Given the description of an element on the screen output the (x, y) to click on. 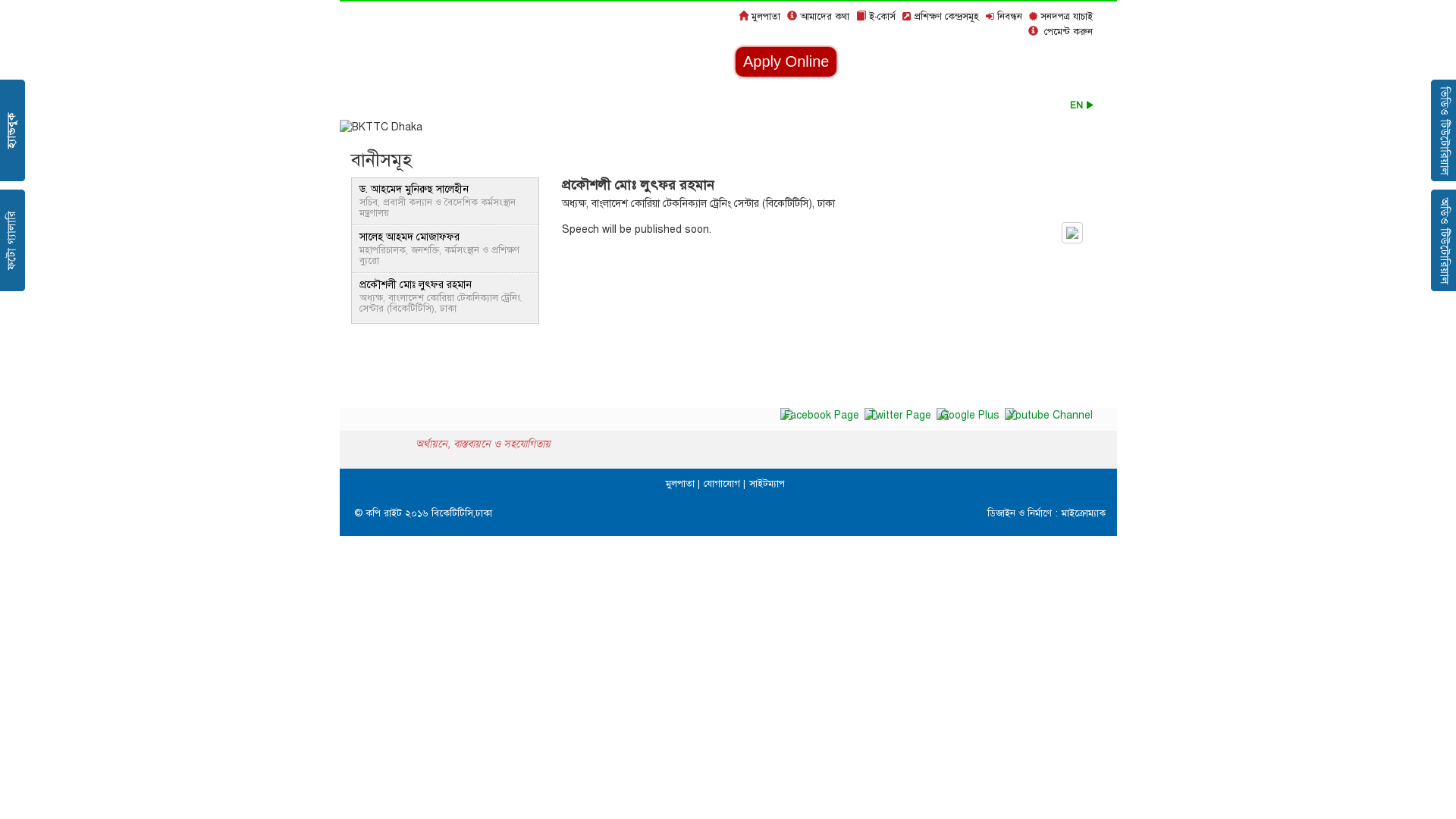
Apply Online Element type: text (785, 61)
EN Element type: text (1081, 105)
